Given the description of an element on the screen output the (x, y) to click on. 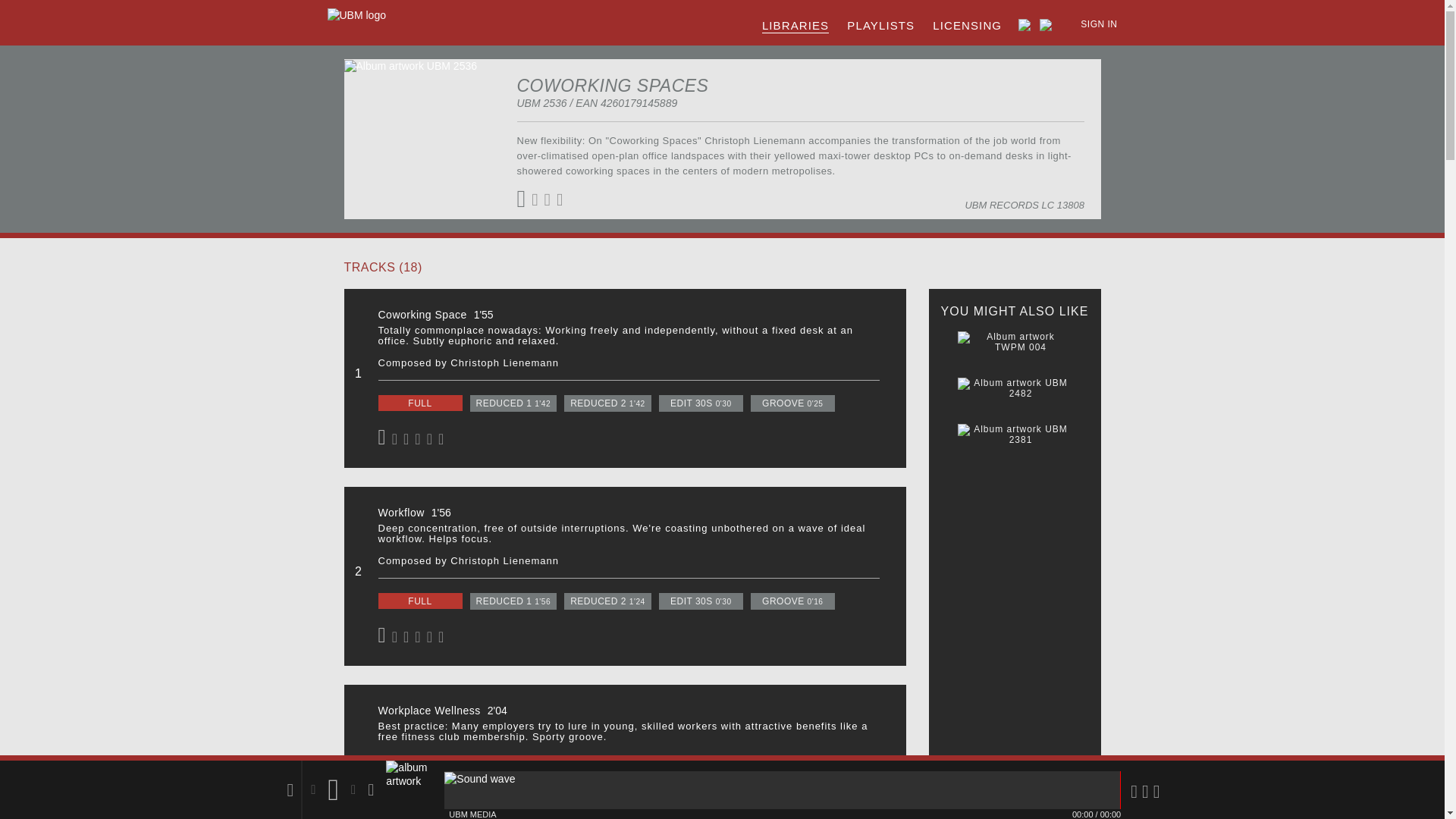
REDUCED 2 1'24 (607, 600)
GROOVE 0'16 (792, 600)
EDIT 30S 0'30 (700, 402)
FULL (419, 798)
EDIT 30S 0'30 (700, 799)
EDIT 30S 0'30 (700, 600)
REDUCED 1 1'55 (513, 799)
GROOVE 0'25 (792, 402)
REDUCED 2 1'38 (607, 799)
PLAYLISTS (880, 25)
